Given the description of an element on the screen output the (x, y) to click on. 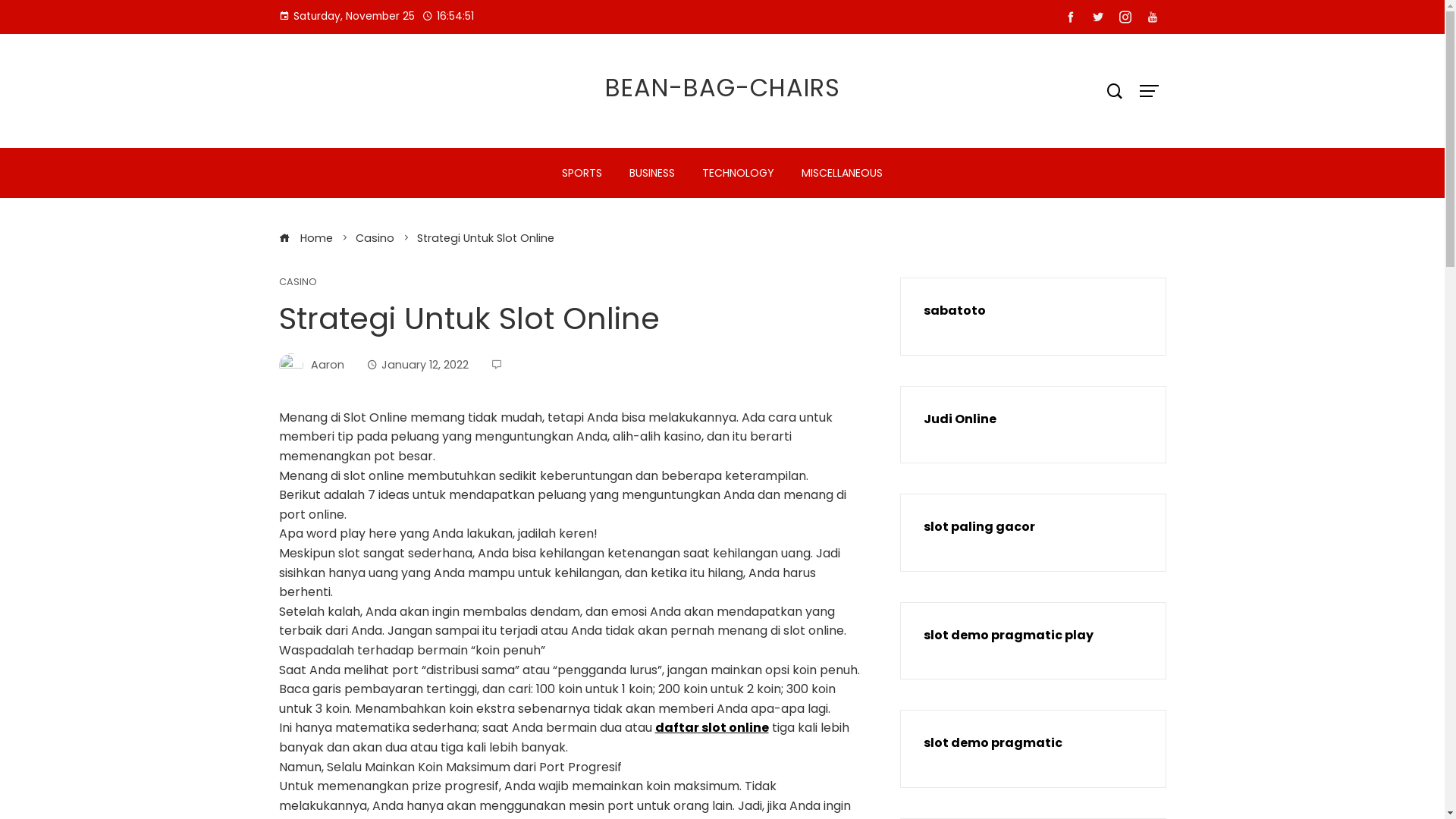
TECHNOLOGY Element type: text (737, 172)
Judi Online Element type: text (959, 418)
BEAN-BAG-CHAIRS Element type: text (722, 87)
sabatoto Element type: text (954, 310)
MISCELLANEOUS Element type: text (842, 172)
CASINO Element type: text (297, 282)
daftar slot online Element type: text (711, 727)
Home Element type: text (305, 237)
Casino Element type: text (373, 237)
slot demo pragmatic play Element type: text (1008, 634)
SPORTS Element type: text (581, 172)
BUSINESS Element type: text (652, 172)
slot demo pragmatic Element type: text (992, 742)
slot paling gacor Element type: text (979, 526)
